Given the description of an element on the screen output the (x, y) to click on. 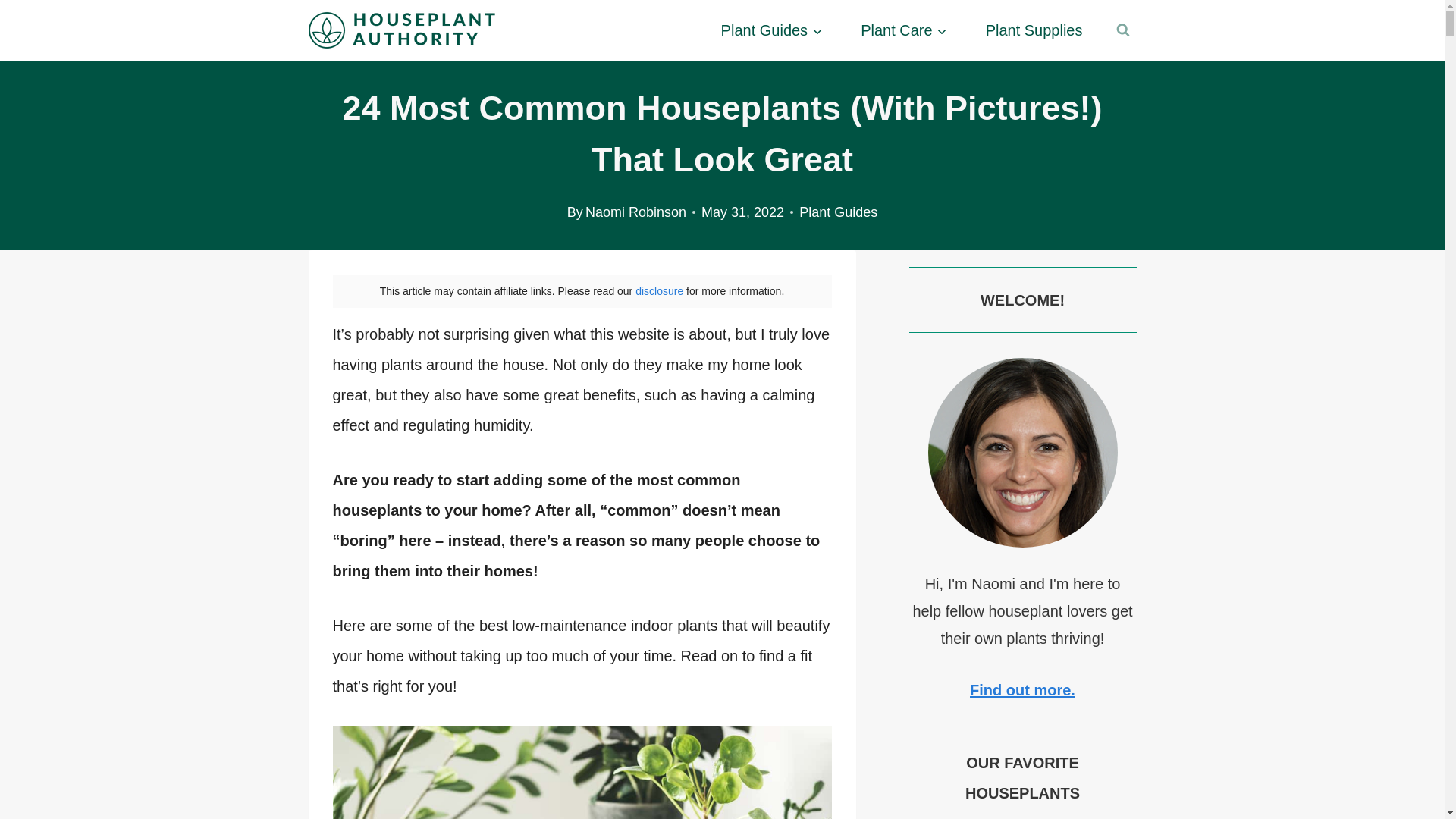
disclosure (658, 291)
Plant Guides (771, 30)
Plant Care (904, 30)
Plant Guides (838, 212)
Naomi Robinson (635, 212)
Plant Supplies (1034, 30)
